Given the description of an element on the screen output the (x, y) to click on. 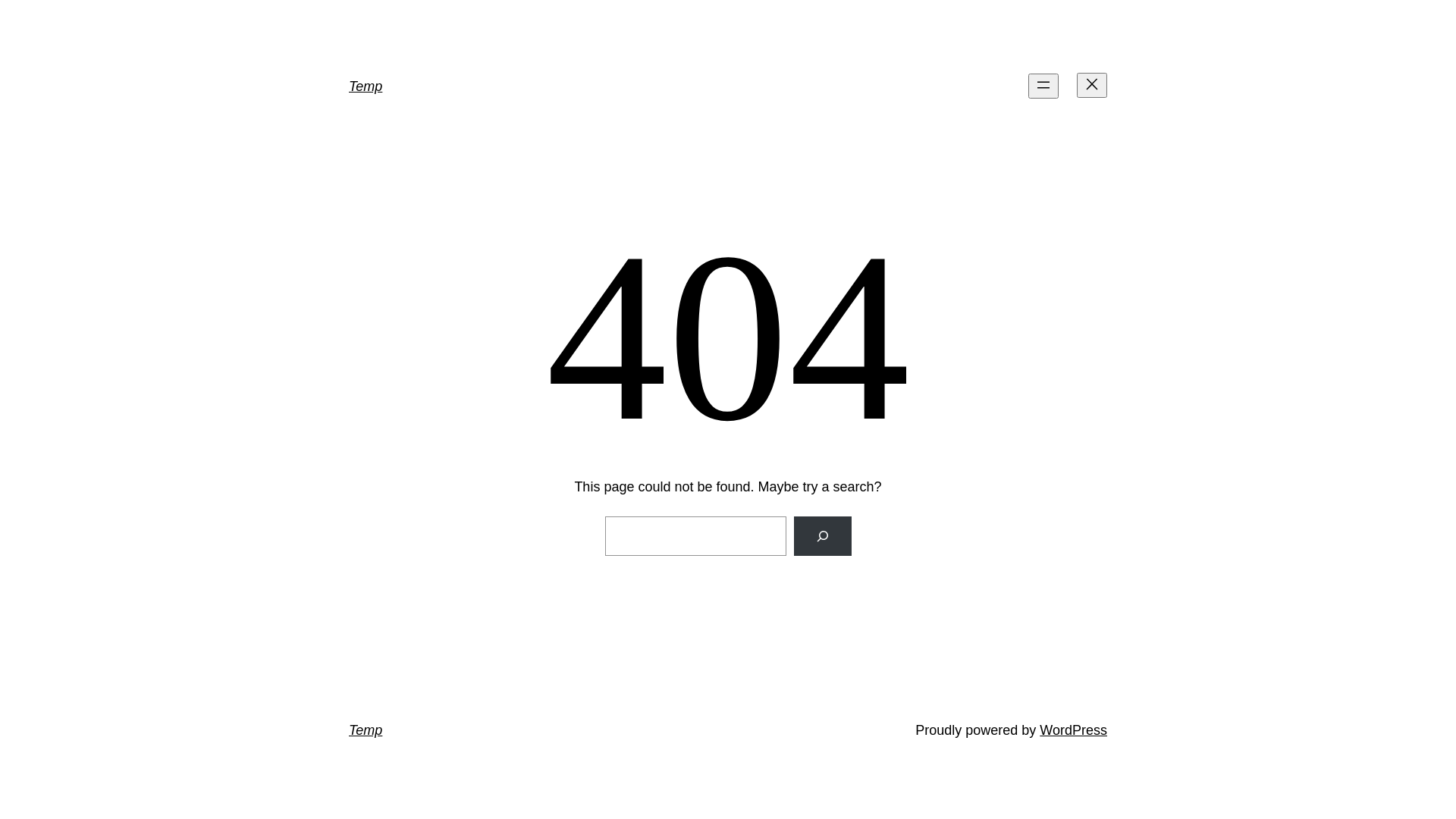
WordPress Element type: text (1073, 729)
Temp Element type: text (365, 729)
Temp Element type: text (365, 86)
